Given the description of an element on the screen output the (x, y) to click on. 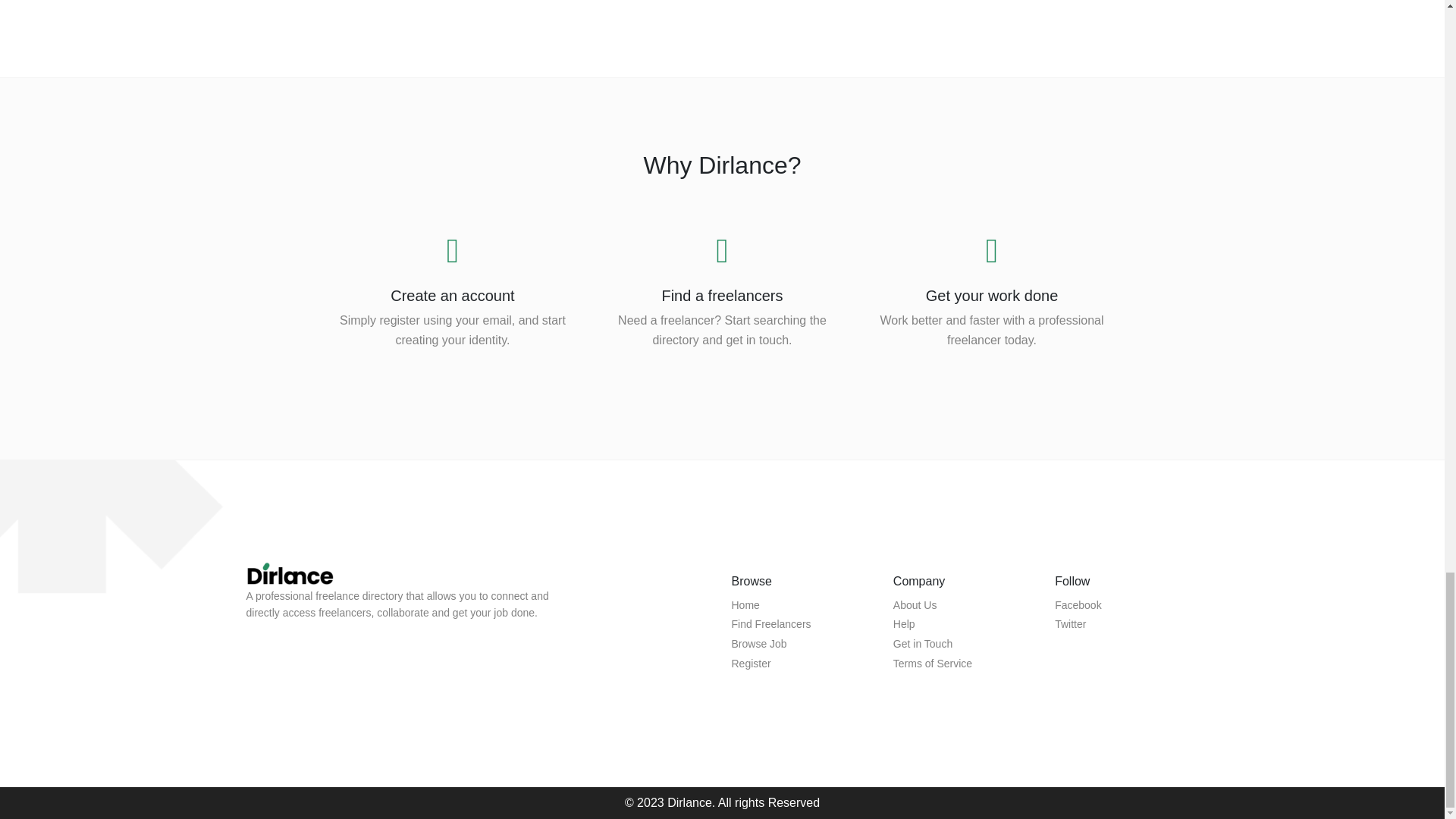
About Us (915, 604)
Find Freelancers (770, 623)
Help (904, 623)
Facebook (1077, 604)
Home (744, 604)
Browse Job (758, 644)
Get in Touch (922, 644)
Register (750, 663)
Twitter (1070, 623)
Terms of Service (932, 663)
